Given the description of an element on the screen output the (x, y) to click on. 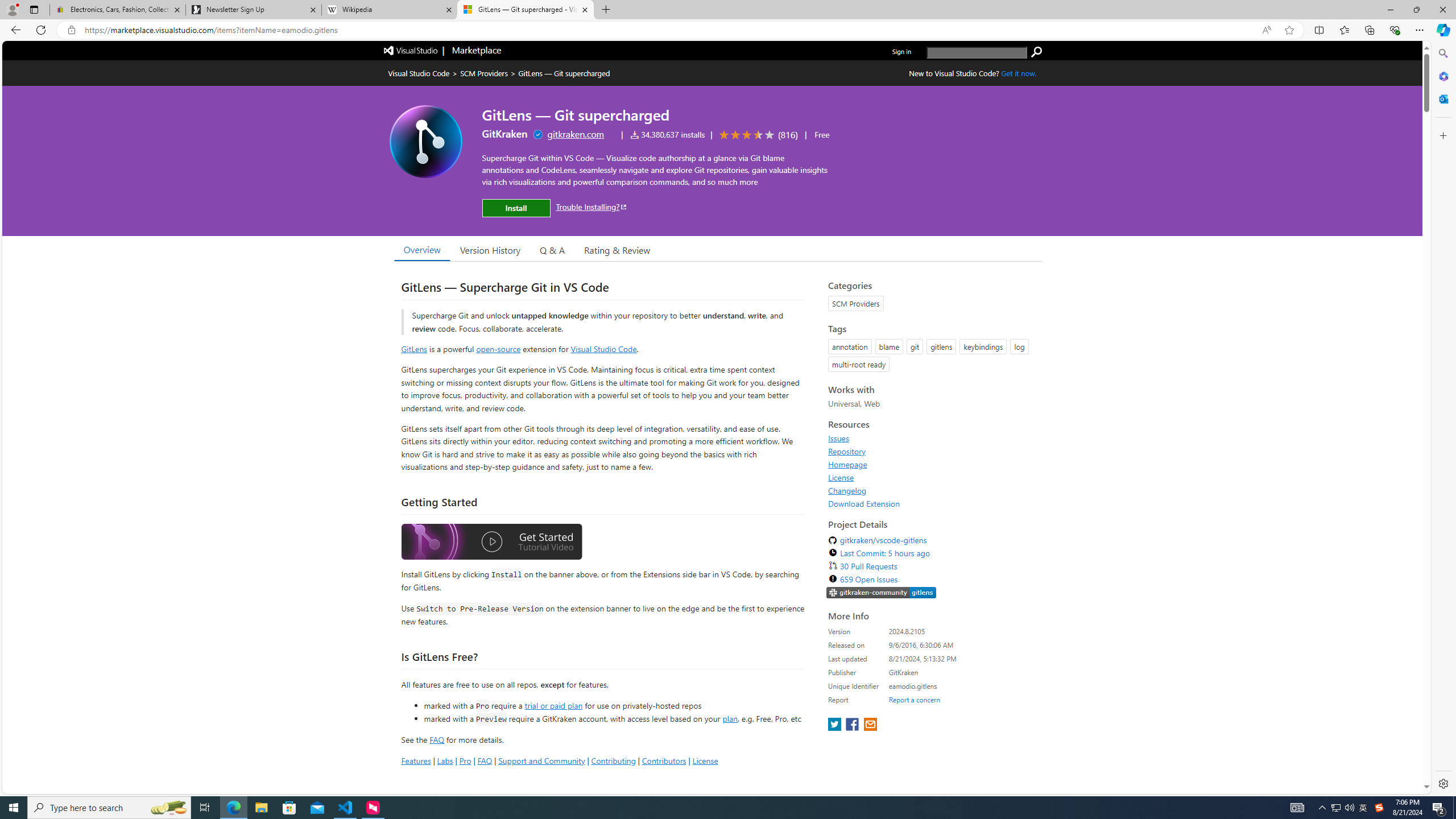
search (1036, 52)
Overview (421, 249)
Visual Studio logo Marketplace logo (441, 50)
Report a concern (914, 699)
share extension on facebook (853, 725)
